Given the description of an element on the screen output the (x, y) to click on. 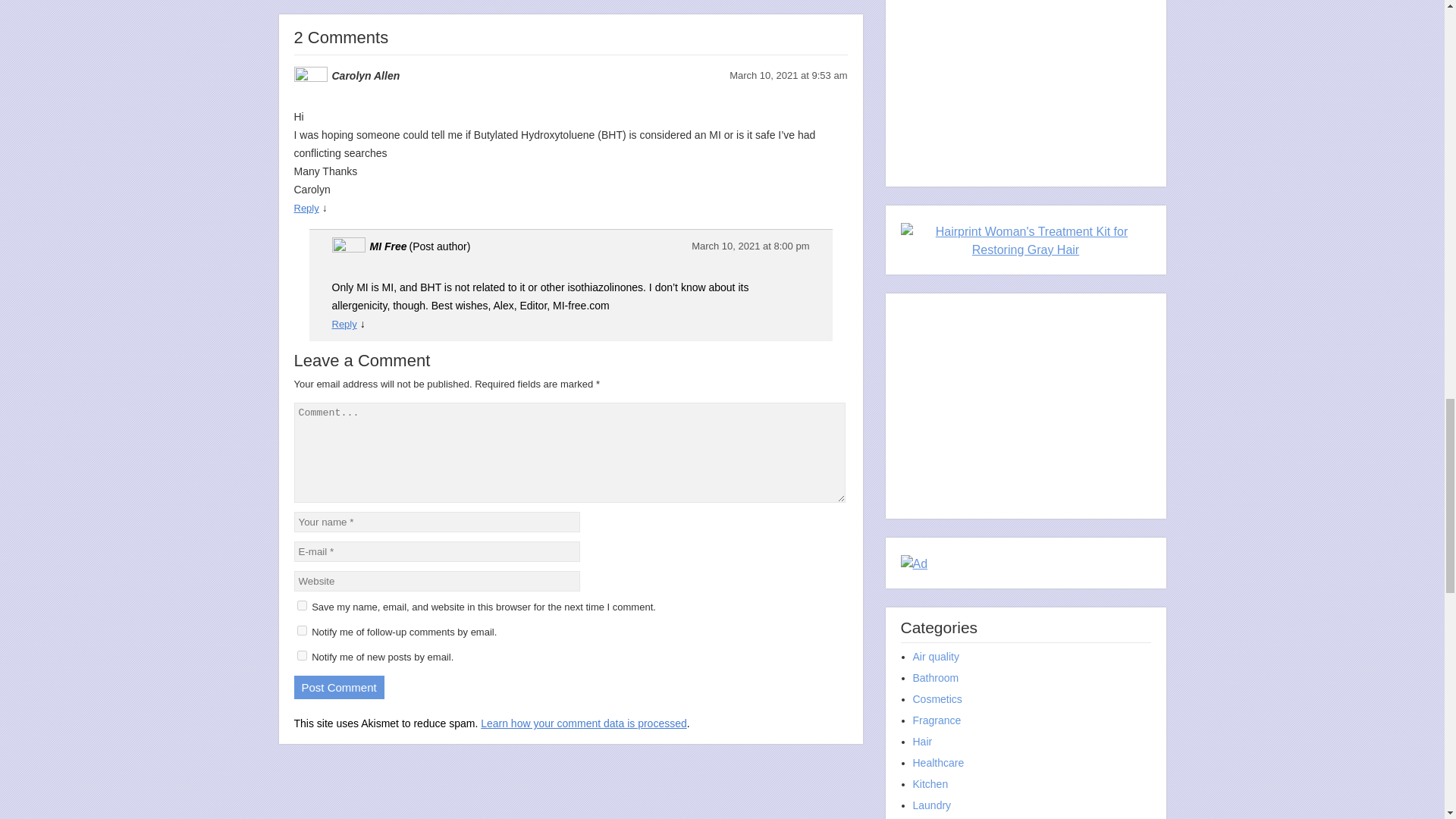
yes (302, 605)
subscribe (302, 655)
subscribe (302, 630)
Post Comment (339, 687)
